Given the description of an element on the screen output the (x, y) to click on. 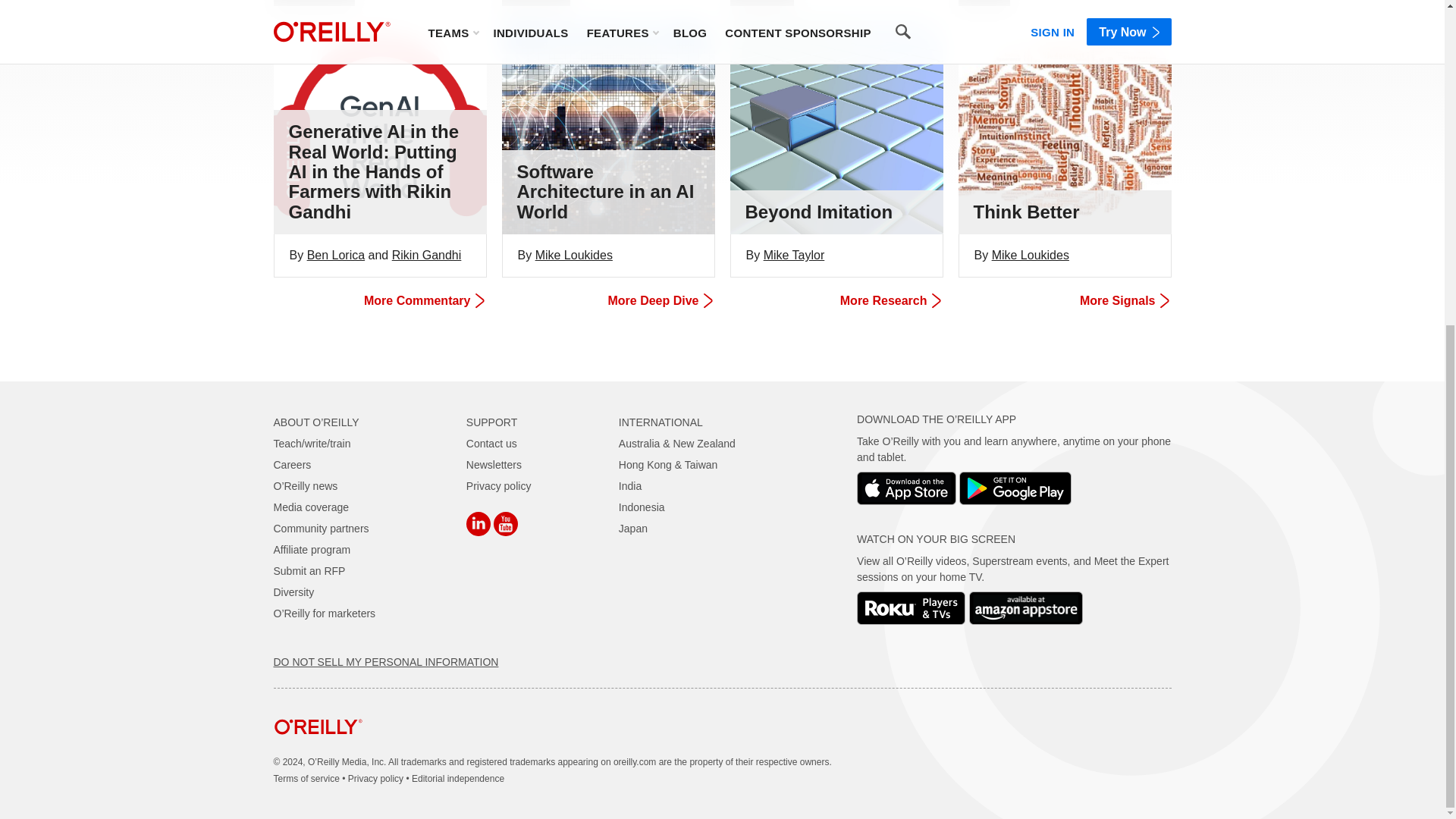
Rikin Gandhi (426, 254)
home page (317, 745)
Ben Lorica (336, 254)
Commentary (314, 3)
More Commentary (378, 300)
